Given the description of an element on the screen output the (x, y) to click on. 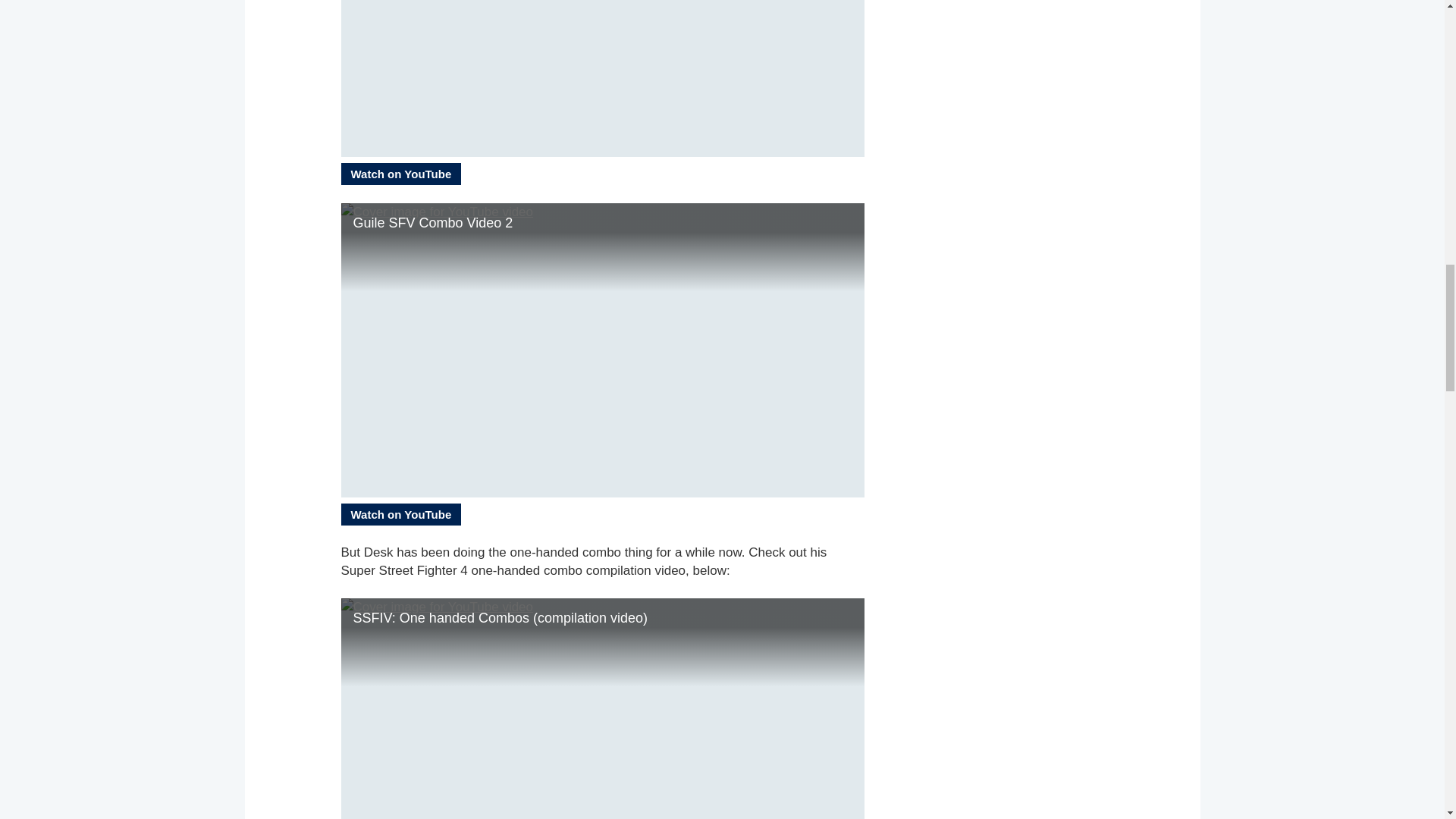
Watch on YouTube (400, 173)
Watch on YouTube (400, 514)
Guile SFV Combo Video 1 (602, 78)
